Given the description of an element on the screen output the (x, y) to click on. 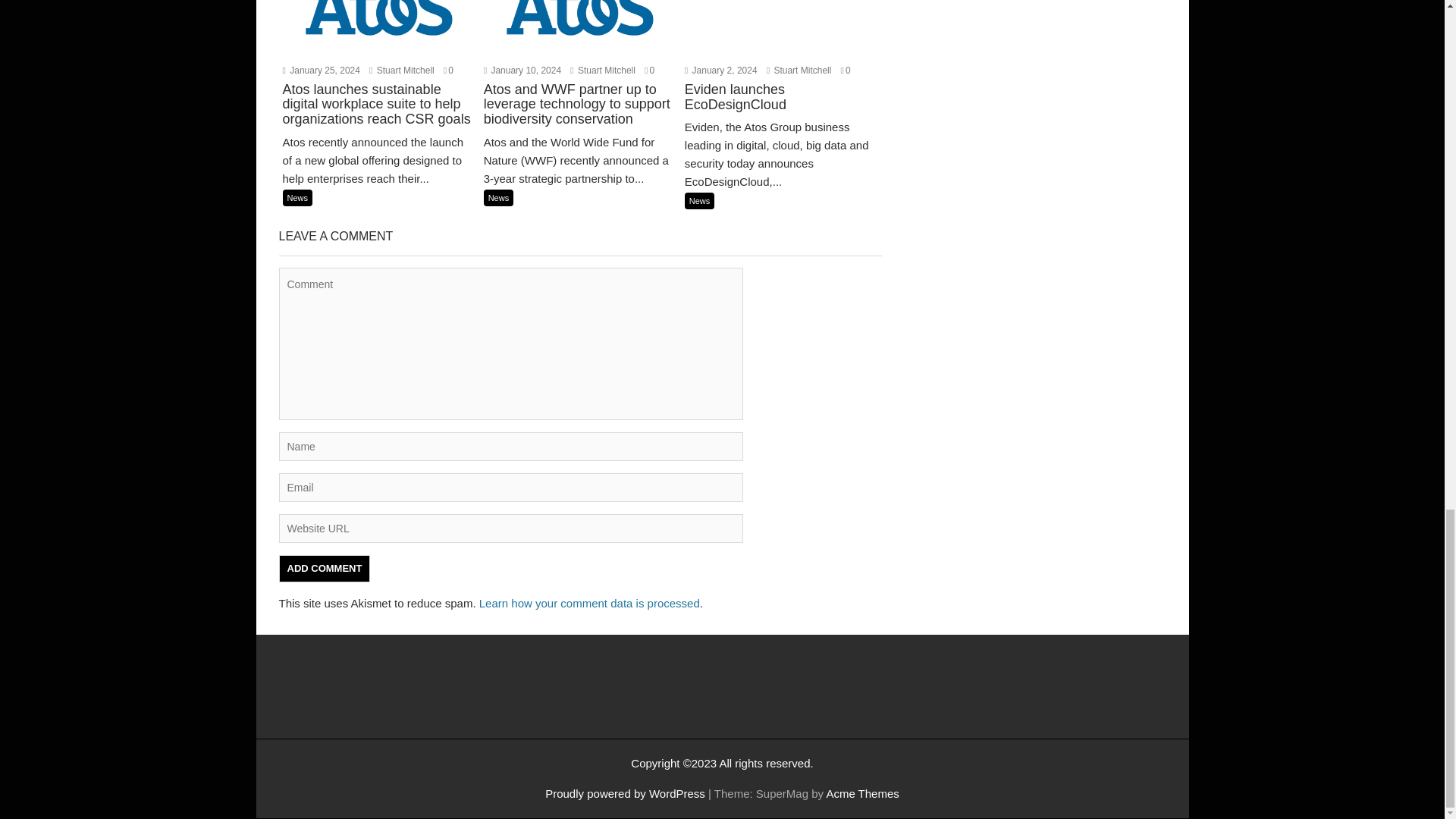
Add Comment (325, 568)
